Given the description of an element on the screen output the (x, y) to click on. 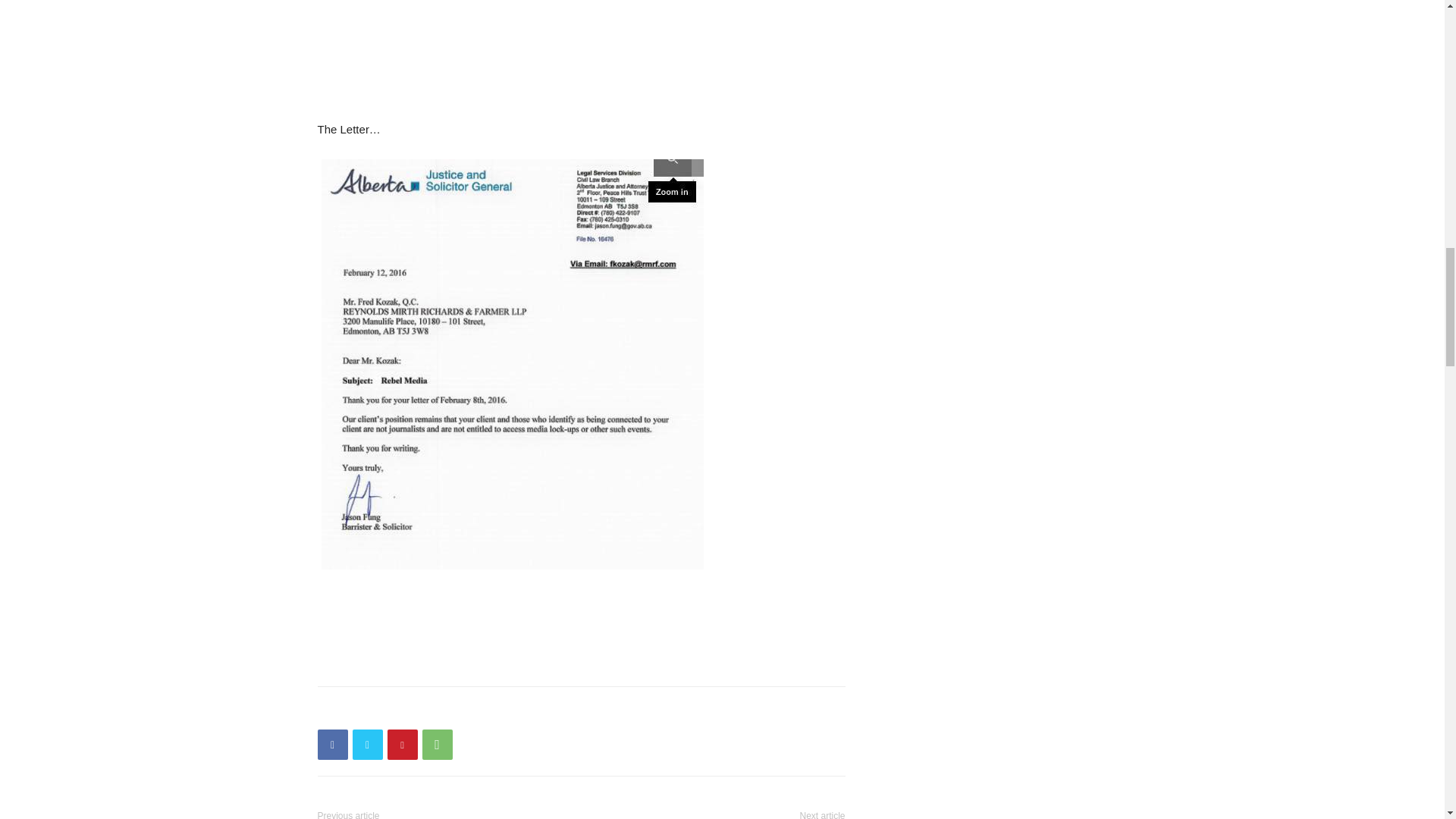
Pinterest (401, 744)
Twitter (366, 744)
Facebook (332, 744)
bottomFacebookLike (430, 710)
